Given the description of an element on the screen output the (x, y) to click on. 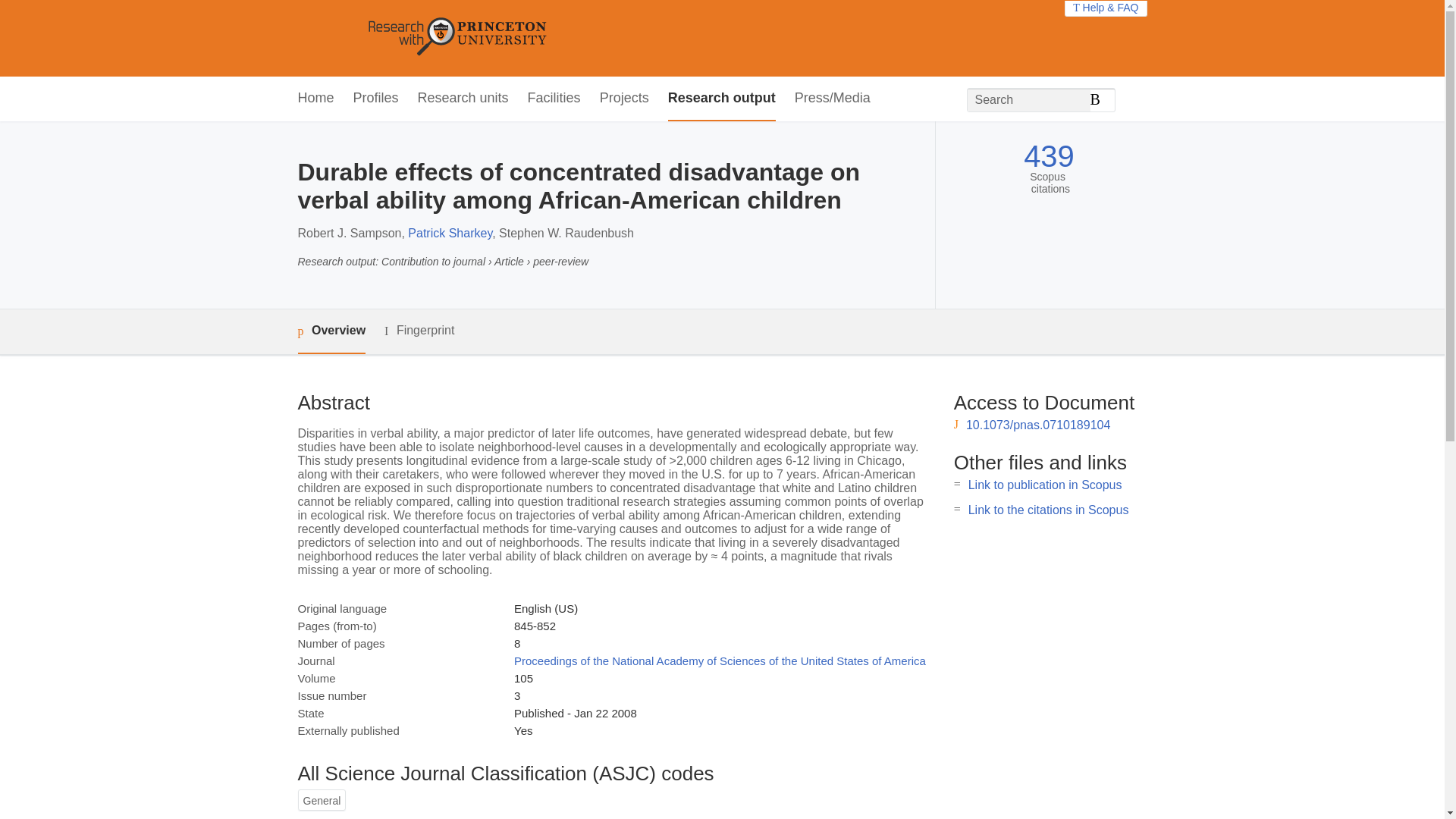
Facilities (553, 98)
Fingerprint (419, 330)
Research units (462, 98)
Research output (722, 98)
Princeton University Home (567, 38)
Patrick Sharkey (449, 232)
Link to publication in Scopus (1045, 484)
Link to the citations in Scopus (1048, 509)
